Given the description of an element on the screen output the (x, y) to click on. 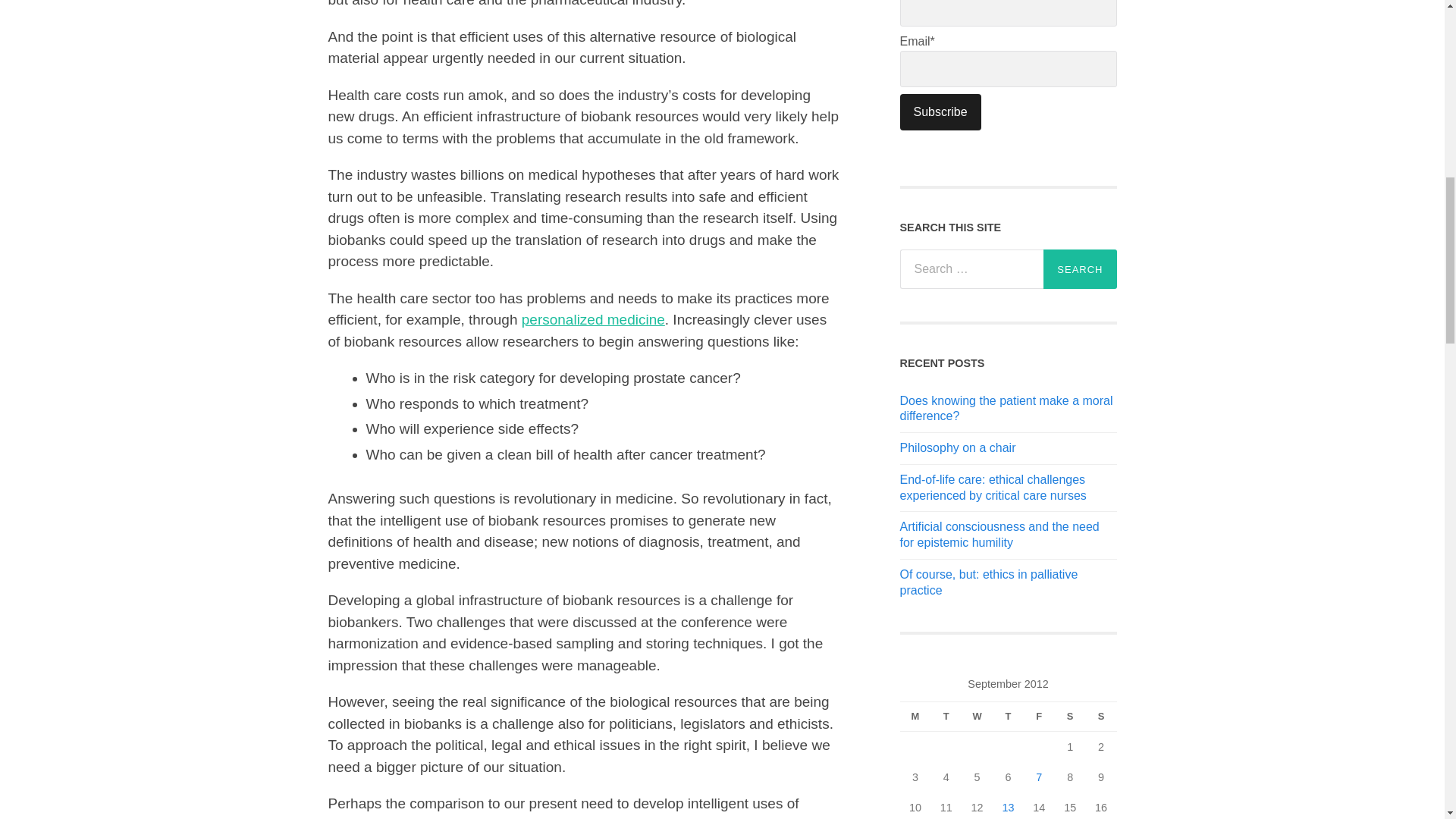
personalized medicine (593, 319)
Search (1079, 269)
Search (1079, 269)
Subscribe (939, 112)
